Given the description of an element on the screen output the (x, y) to click on. 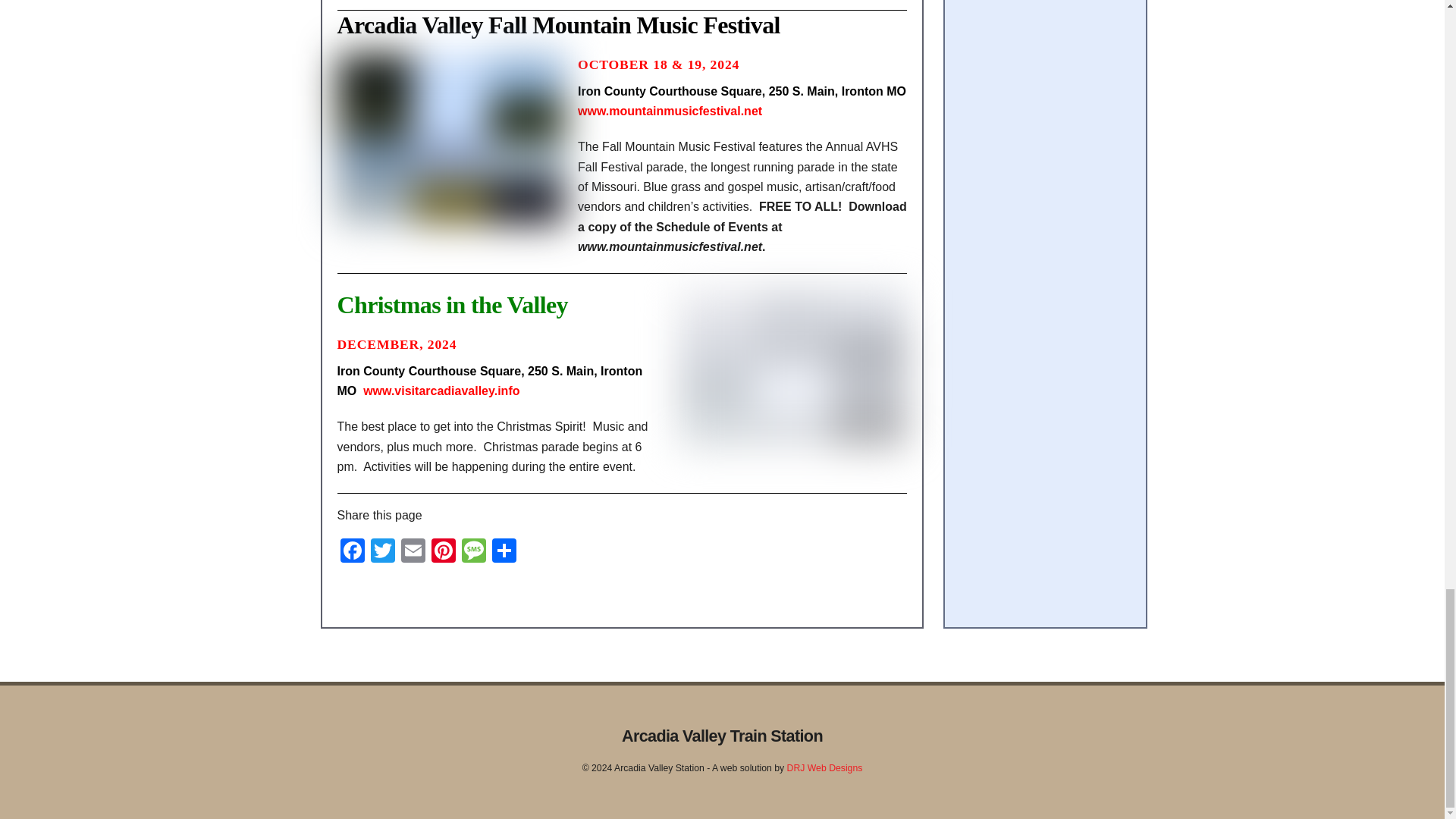
Facebook (351, 552)
Message (472, 552)
DRJ Web Designs (825, 767)
Share (502, 552)
DRJ Web Designs (825, 767)
Message (472, 552)
Twitter (381, 552)
Pinterest (443, 552)
Pinterest (443, 552)
www.mountainmusicfestival.net (669, 110)
Arcadia Valley Train Station (721, 735)
Arcadia Valley Train Station (721, 735)
Email (412, 552)
Facebook (351, 552)
Email (412, 552)
